Given the description of an element on the screen output the (x, y) to click on. 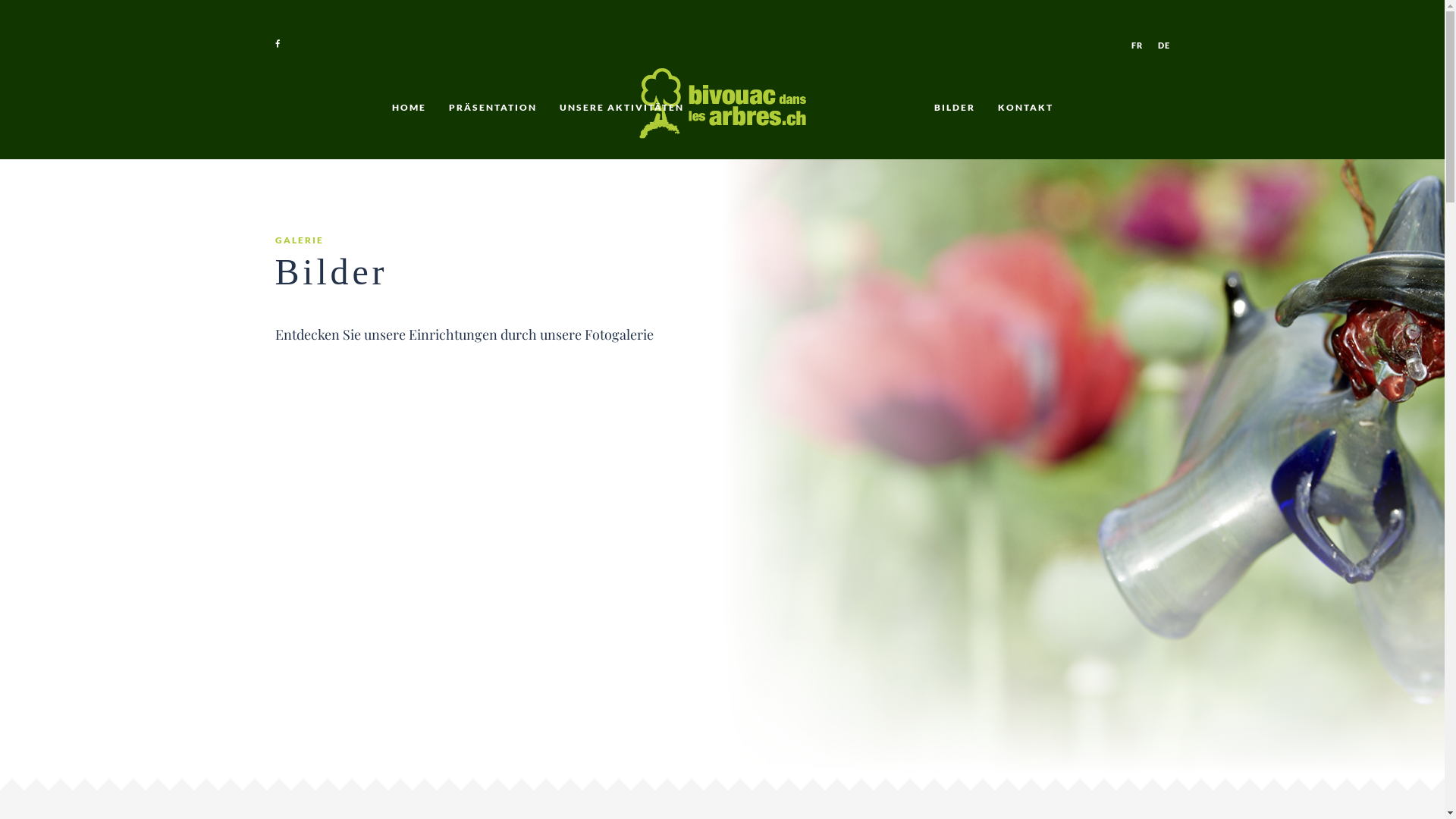
KONTAKT Element type: text (1024, 107)
BILDER Element type: text (953, 107)
HOME Element type: text (408, 107)
FR Element type: text (1136, 45)
facebook Element type: hover (276, 44)
DE Element type: text (1163, 45)
